Given the description of an element on the screen output the (x, y) to click on. 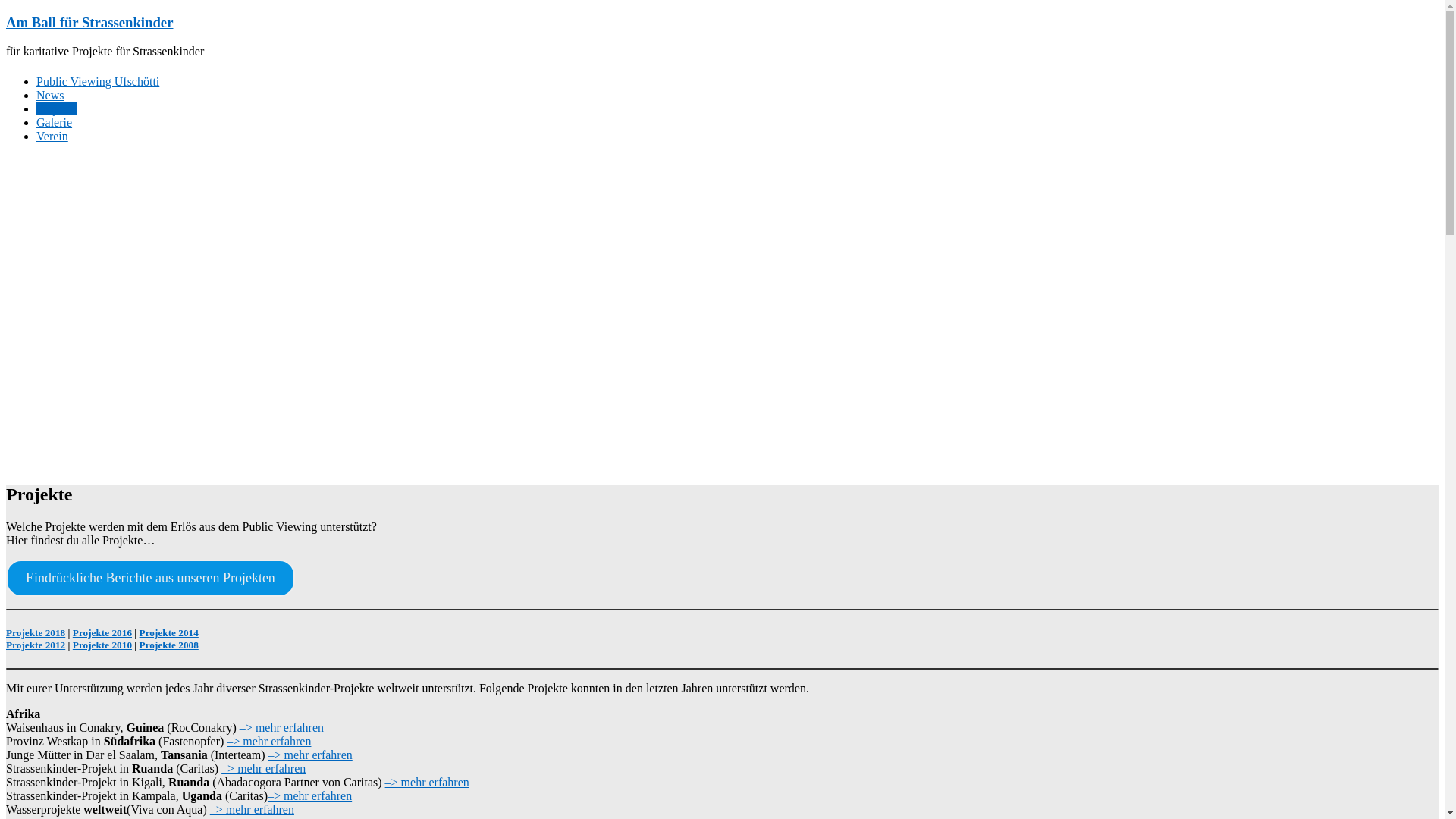
Projekte 2008 Element type: text (168, 644)
News Element type: text (49, 94)
Galerie Element type: text (54, 122)
Projekte Element type: text (56, 108)
Projekte 2016 Element type: text (101, 632)
Zum Inhalt springen Element type: text (5, 13)
Projekte 2012 Element type: text (35, 644)
Projekte 2010 Element type: text (101, 644)
Projekte 2014 Element type: text (168, 632)
Projekte 2018 Element type: text (35, 632)
Verein Element type: text (52, 135)
